Given the description of an element on the screen output the (x, y) to click on. 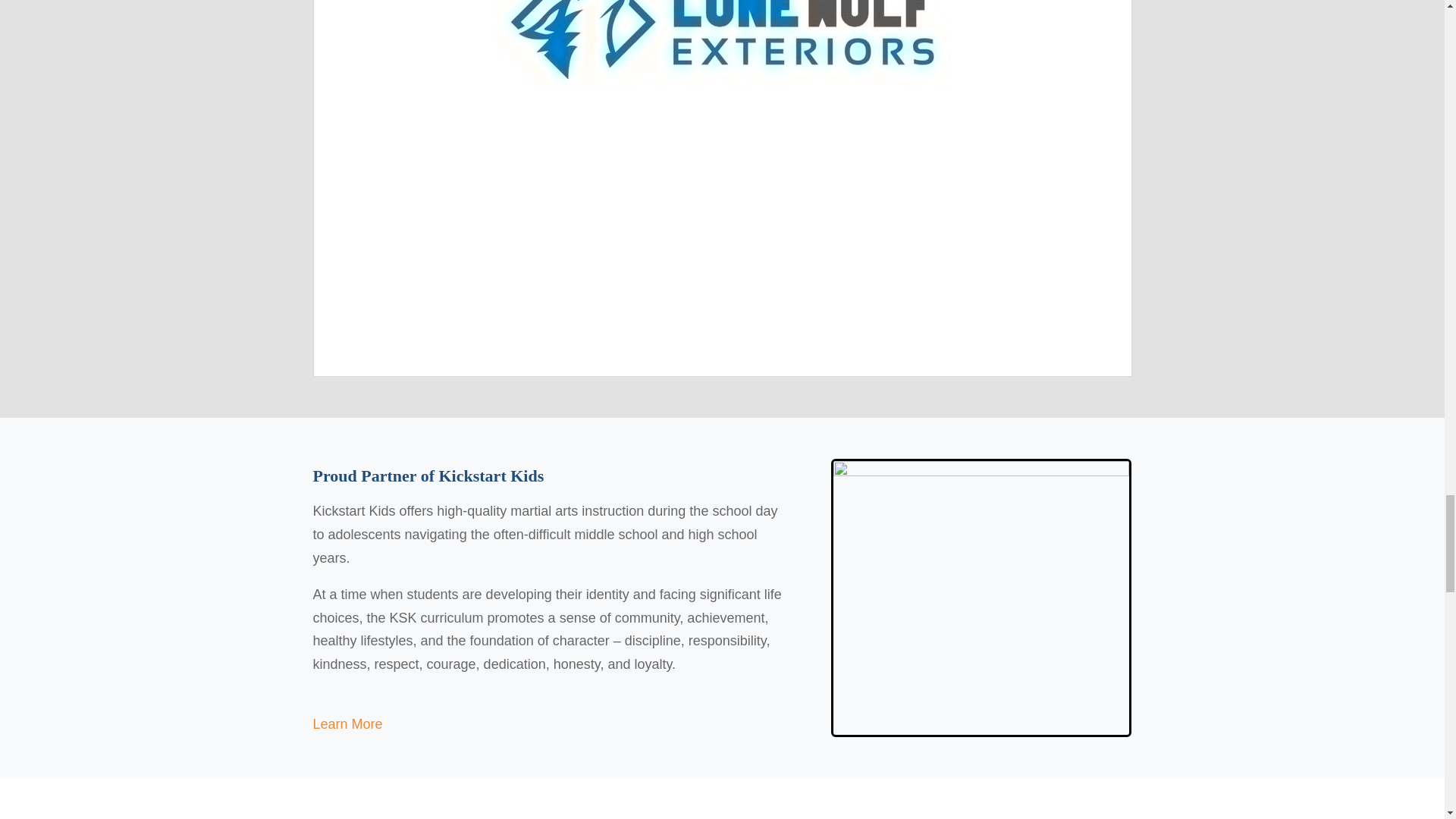
Learn More (347, 735)
YouTube video player (721, 231)
kickstart-kids (980, 597)
